Given the description of an element on the screen output the (x, y) to click on. 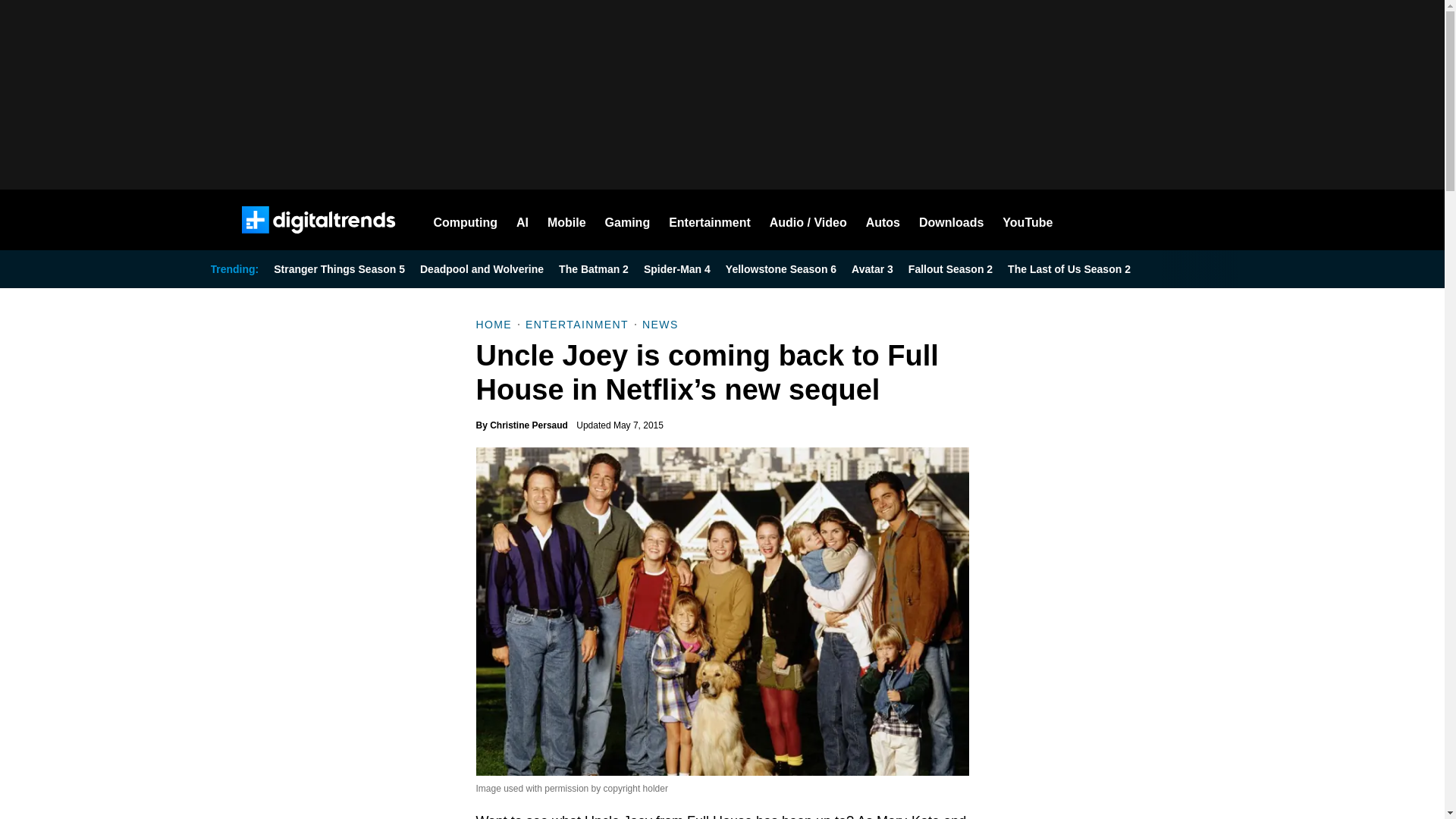
Downloads (951, 219)
Computing (465, 219)
Entertainment (709, 219)
